Given the description of an element on the screen output the (x, y) to click on. 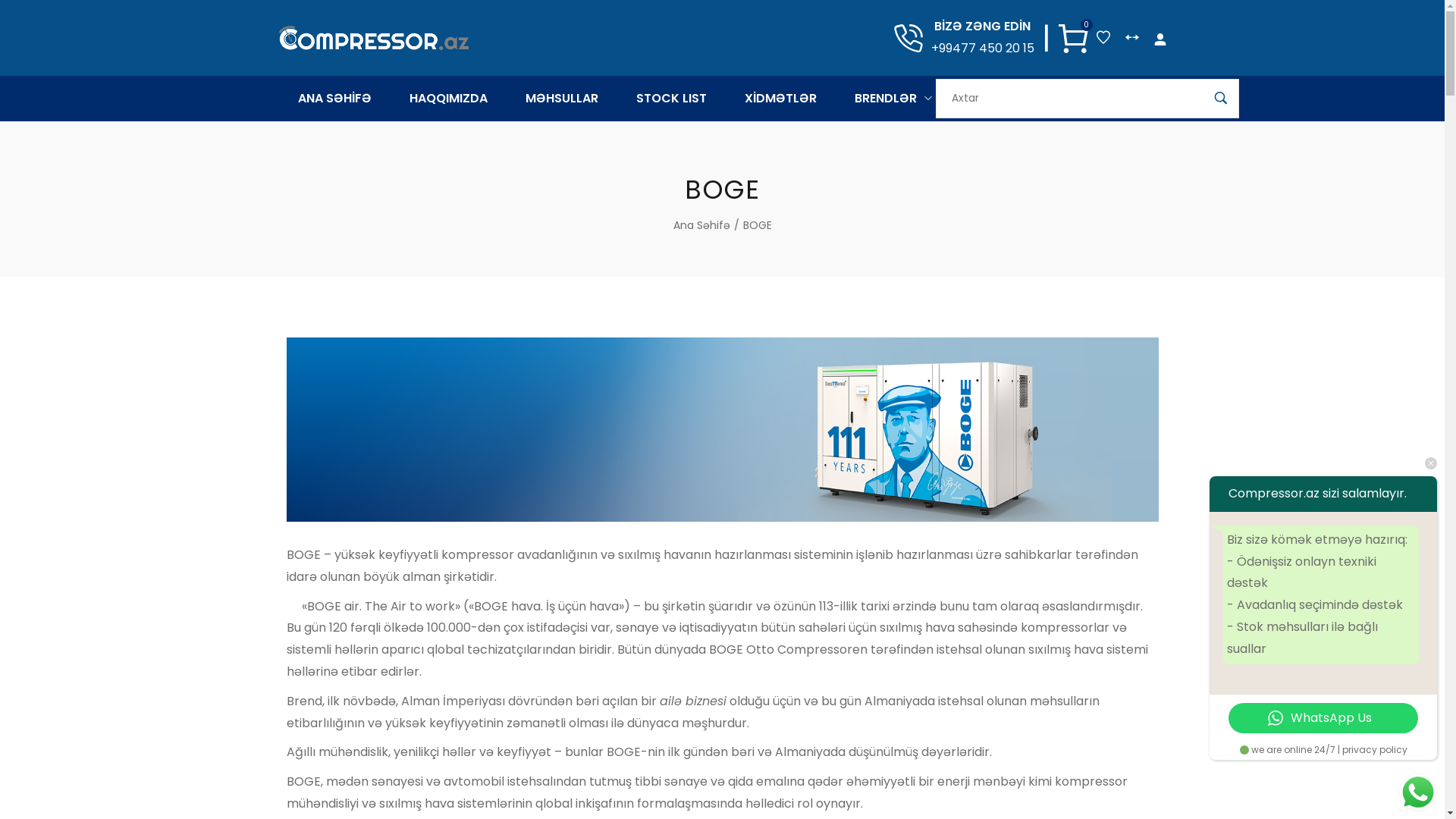
HAQQIMIZDA Element type: text (447, 98)
STOCK LIST Element type: text (671, 98)
0 Element type: text (1073, 37)
